Given the description of an element on the screen output the (x, y) to click on. 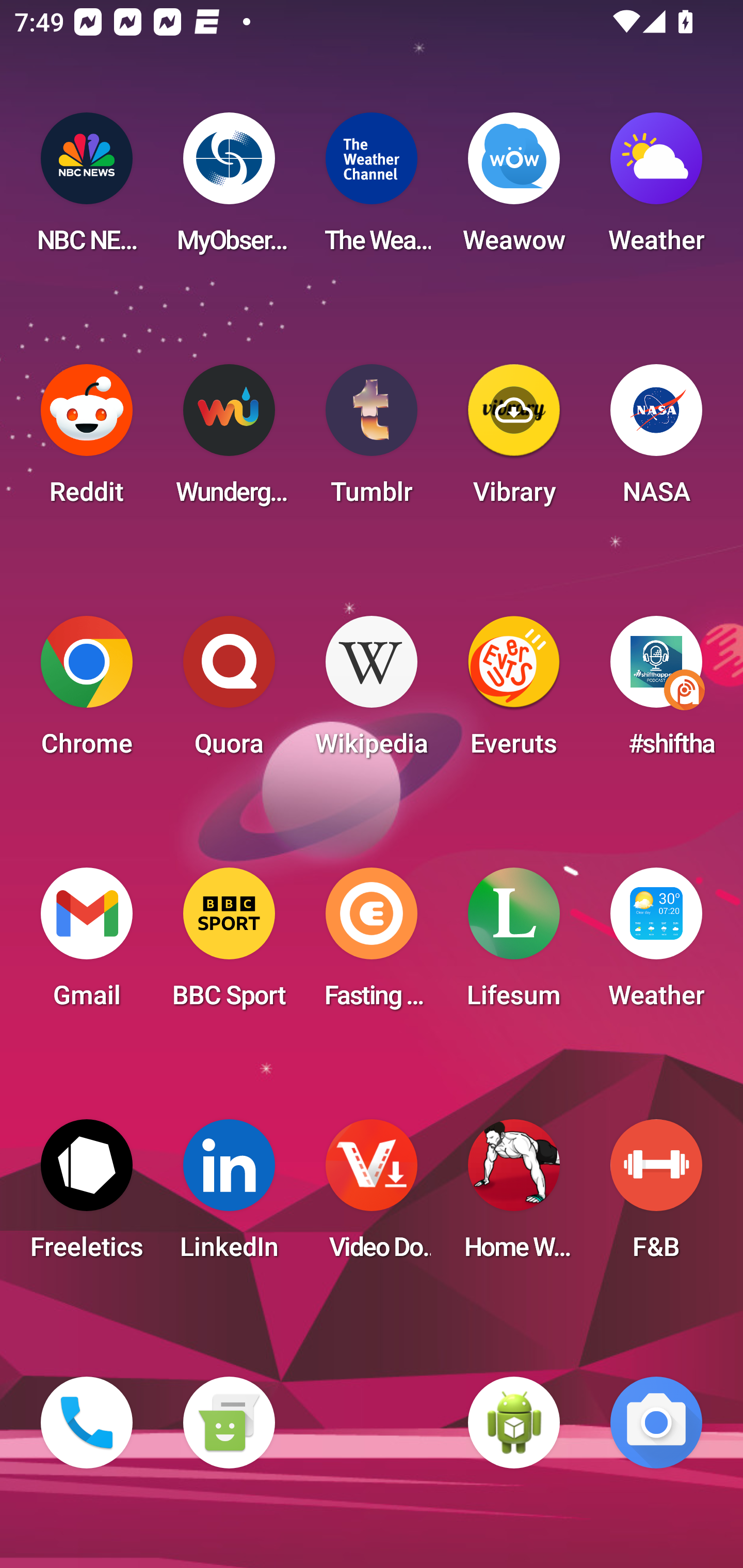
NBC NEWS (86, 188)
MyObservatory (228, 188)
The Weather Channel (371, 188)
Weawow (513, 188)
Weather (656, 188)
Reddit (86, 440)
Wunderground (228, 440)
Tumblr (371, 440)
Vibrary (513, 440)
NASA (656, 440)
Chrome (86, 692)
Quora (228, 692)
Wikipedia (371, 692)
Everuts (513, 692)
#shifthappens in the Digital Workplace Podcast (656, 692)
Gmail (86, 943)
BBC Sport (228, 943)
Fasting Coach (371, 943)
Lifesum (513, 943)
Weather (656, 943)
Freeletics (86, 1195)
LinkedIn (228, 1195)
Video Downloader & Ace Player (371, 1195)
Home Workout (513, 1195)
F&B (656, 1195)
Phone (86, 1422)
Messaging (228, 1422)
WebView Browser Tester (513, 1422)
Camera (656, 1422)
